Given the description of an element on the screen output the (x, y) to click on. 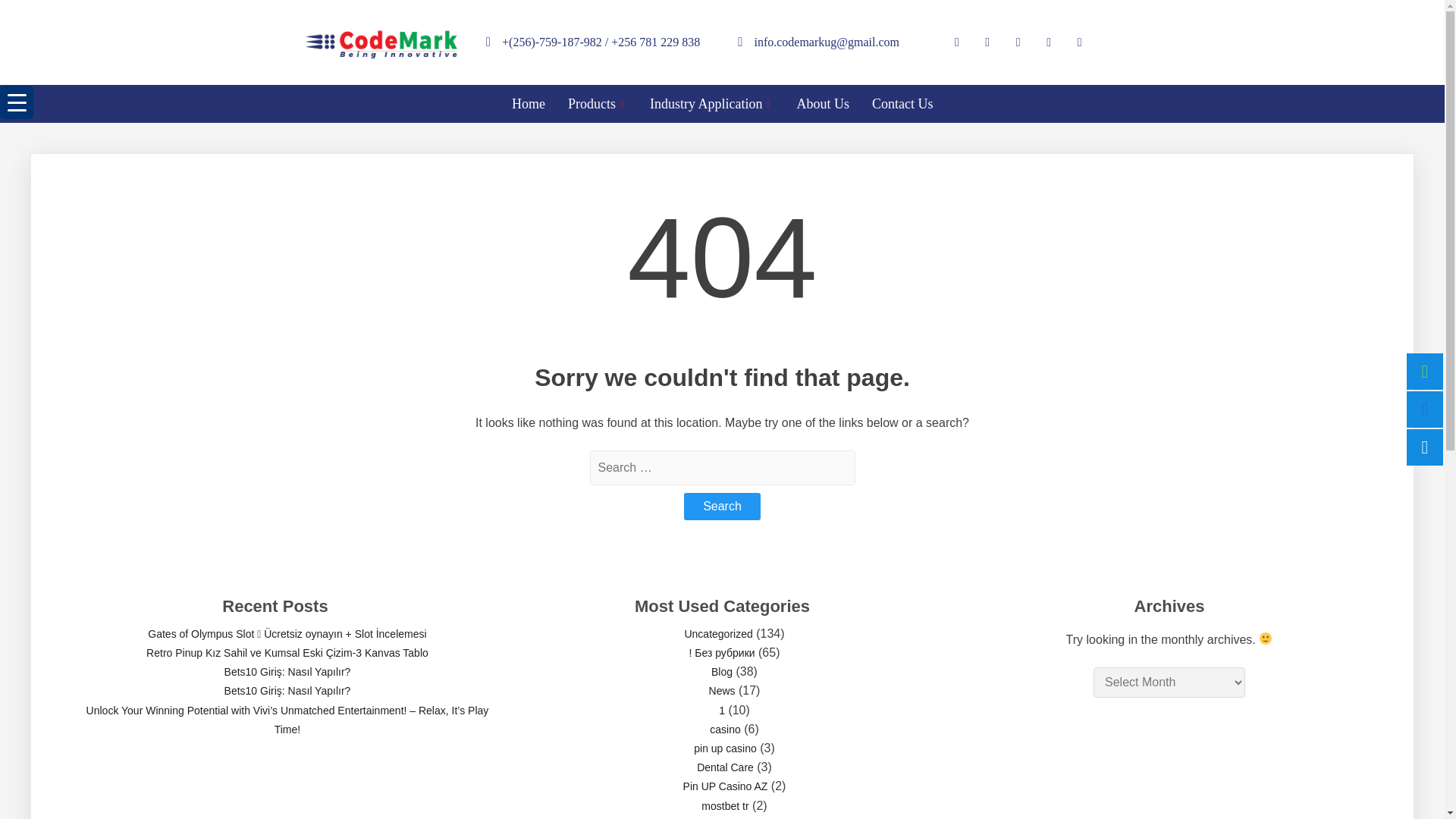
Search (722, 506)
Search (722, 506)
